Given the description of an element on the screen output the (x, y) to click on. 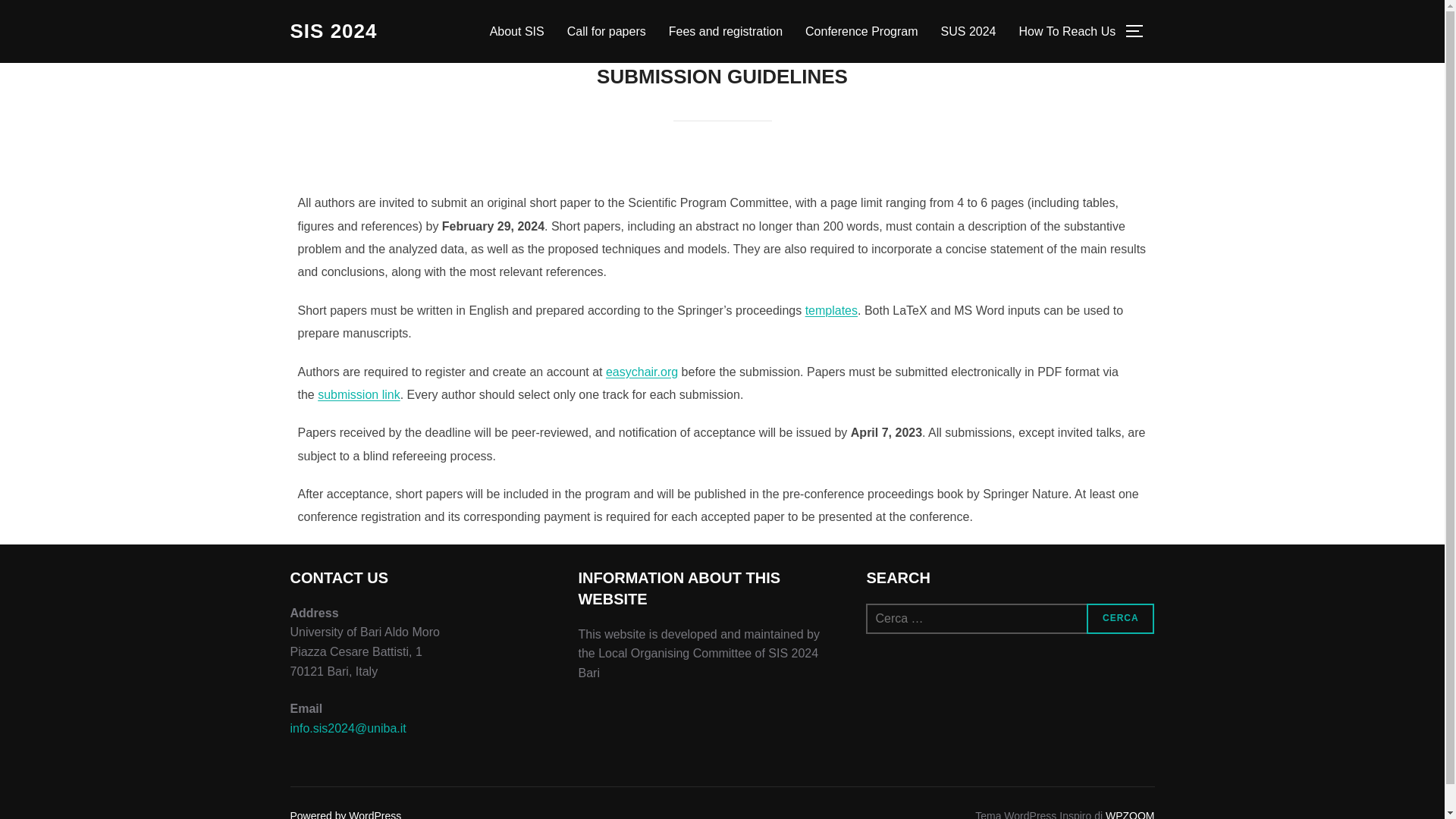
SUS 2024 (967, 30)
submission link (357, 394)
Powered by WordPress (345, 814)
CERCA (1120, 618)
About SIS (516, 30)
Fees and registration (725, 30)
templates (831, 309)
WPZOOM (1129, 814)
How To Reach Us (1066, 30)
